Given the description of an element on the screen output the (x, y) to click on. 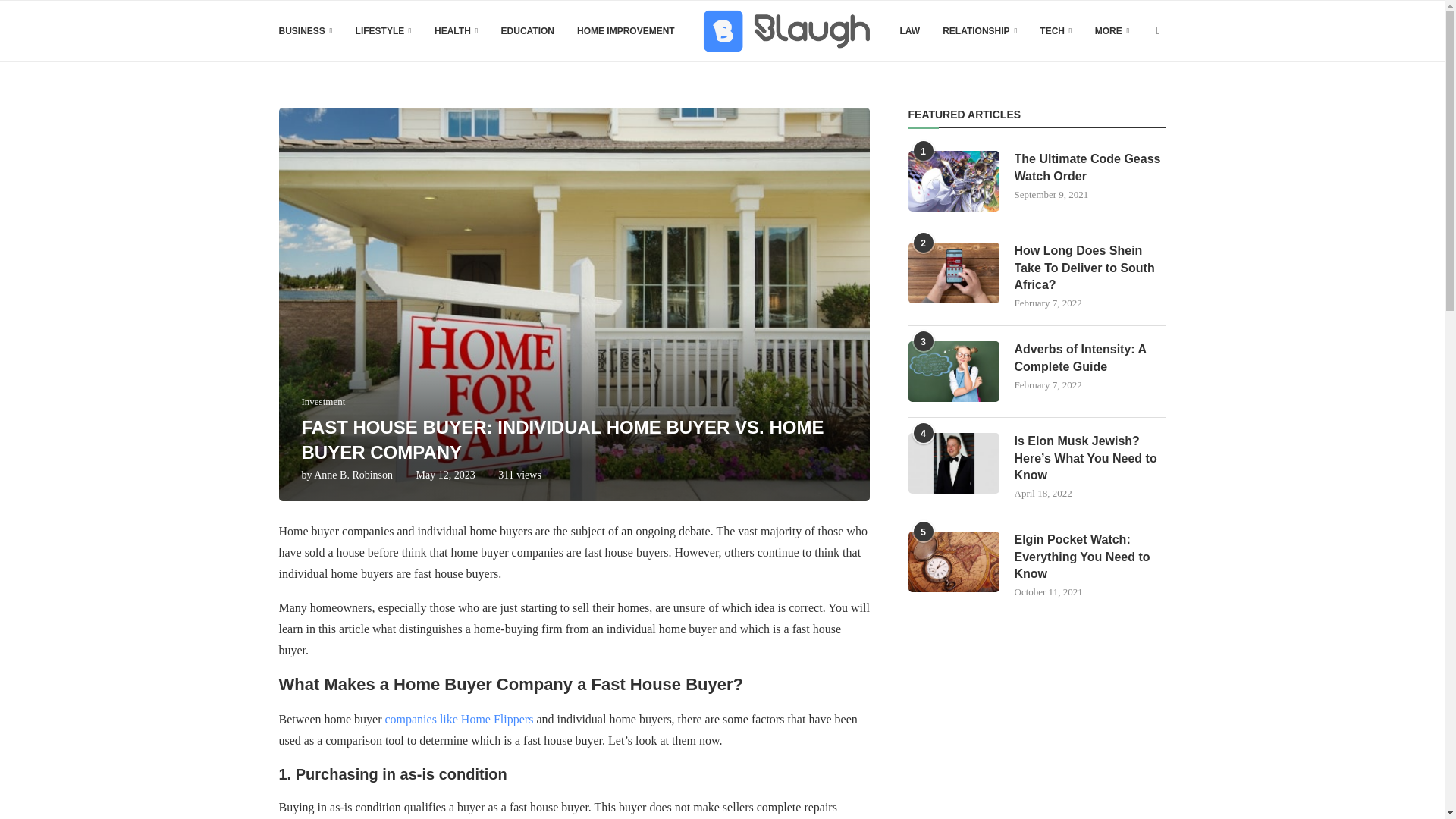
Investment (323, 401)
RELATIONSHIP (979, 30)
HOME IMPROVEMENT (625, 30)
LIFESTYLE (383, 30)
